Given the description of an element on the screen output the (x, y) to click on. 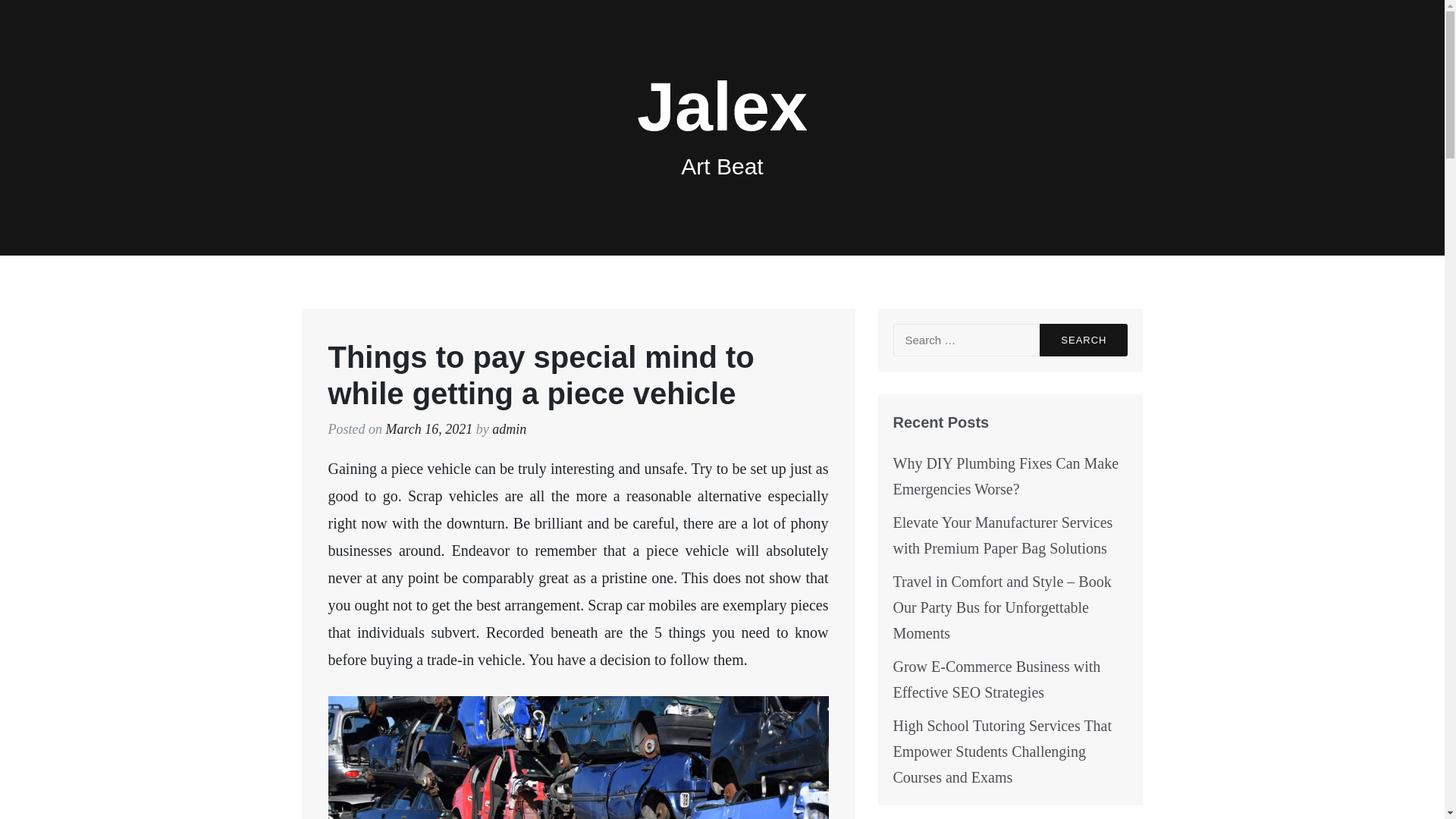
admin (508, 428)
Jalex (722, 106)
Search (1082, 339)
Search (1082, 339)
Search (1082, 339)
Why DIY Plumbing Fixes Can Make Emergencies Worse? (1006, 476)
Grow E-Commerce Business with Effective SEO Strategies (996, 679)
March 16, 2021 (428, 428)
